Given the description of an element on the screen output the (x, y) to click on. 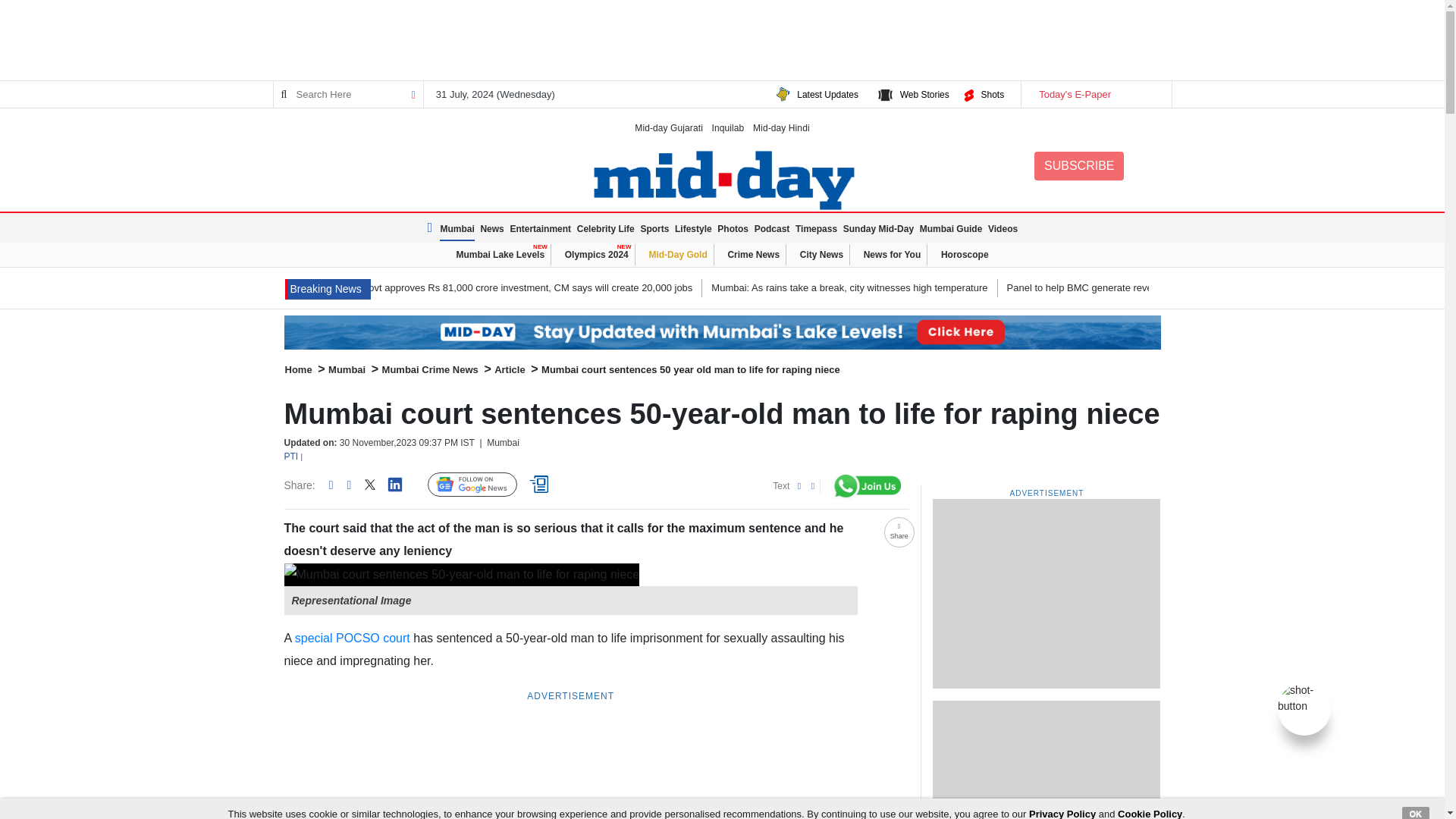
Latest News (328, 289)
Quick Reads (541, 485)
Inquilab (728, 127)
Web Stories (924, 94)
Today's E-Paper (1095, 94)
Lake Levels (721, 332)
Latest News (432, 227)
Mid-day Gujarati (668, 127)
Latest Updates (827, 94)
SUBSCRIBE (1078, 165)
Mid-day Hindi (780, 127)
Shots (991, 94)
Midday Shot Videos (1304, 697)
